Given the description of an element on the screen output the (x, y) to click on. 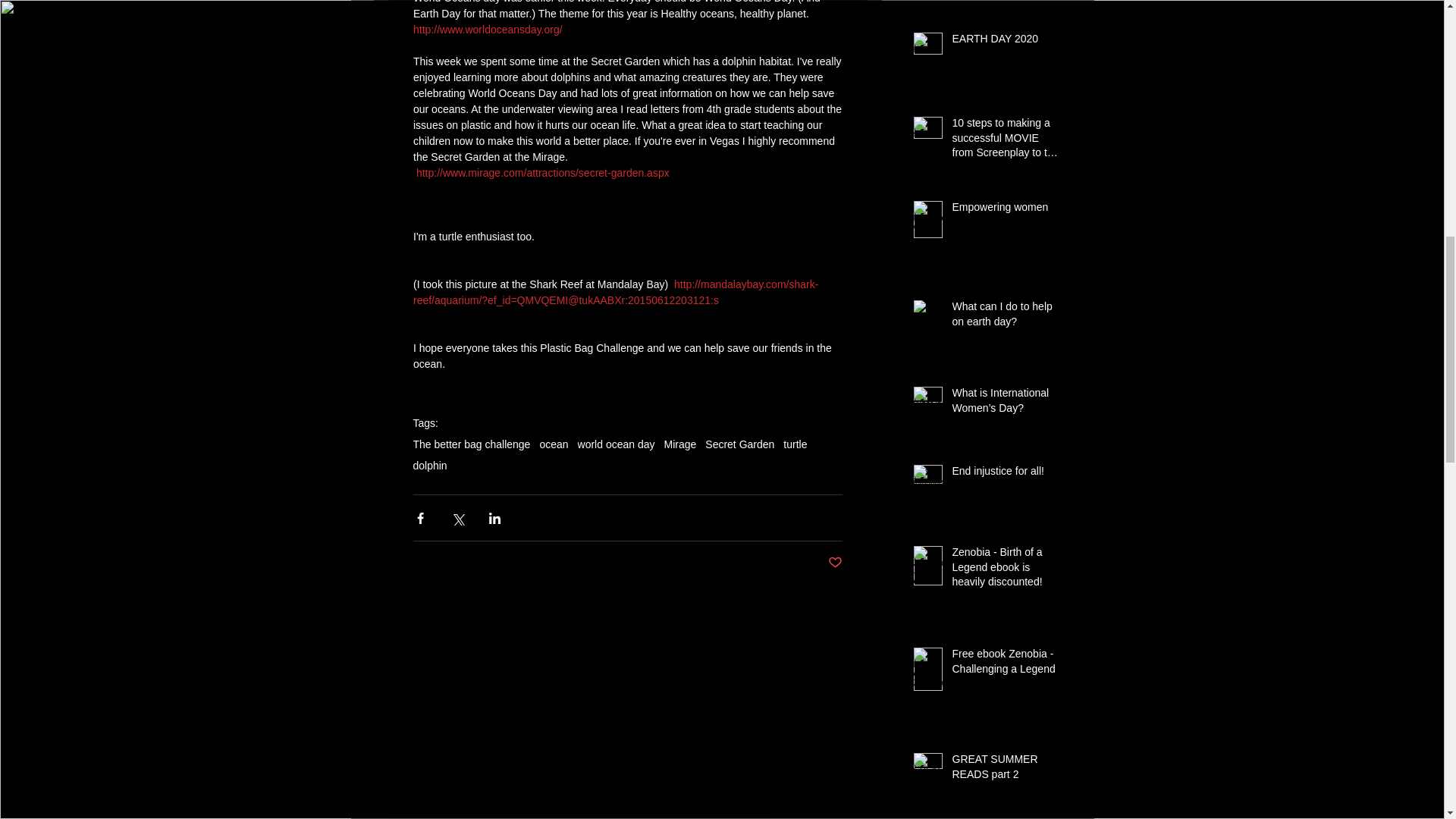
The better bag challenge (470, 444)
End injustice for all! (1006, 474)
GREAT SUMMER READS part 2 (1006, 769)
world ocean day (616, 444)
Post not marked as liked (835, 562)
EARTH DAY 2020 (1006, 42)
What can I do to help on earth day? (1006, 316)
Free ebook Zenobia - Challenging a Legend (1006, 664)
Empowering women (1006, 210)
Mirage (680, 444)
turtle (794, 444)
ocean (552, 444)
Secret Garden (739, 444)
Zenobia - Birth of a Legend ebook is heavily discounted! (1006, 570)
